Given the description of an element on the screen output the (x, y) to click on. 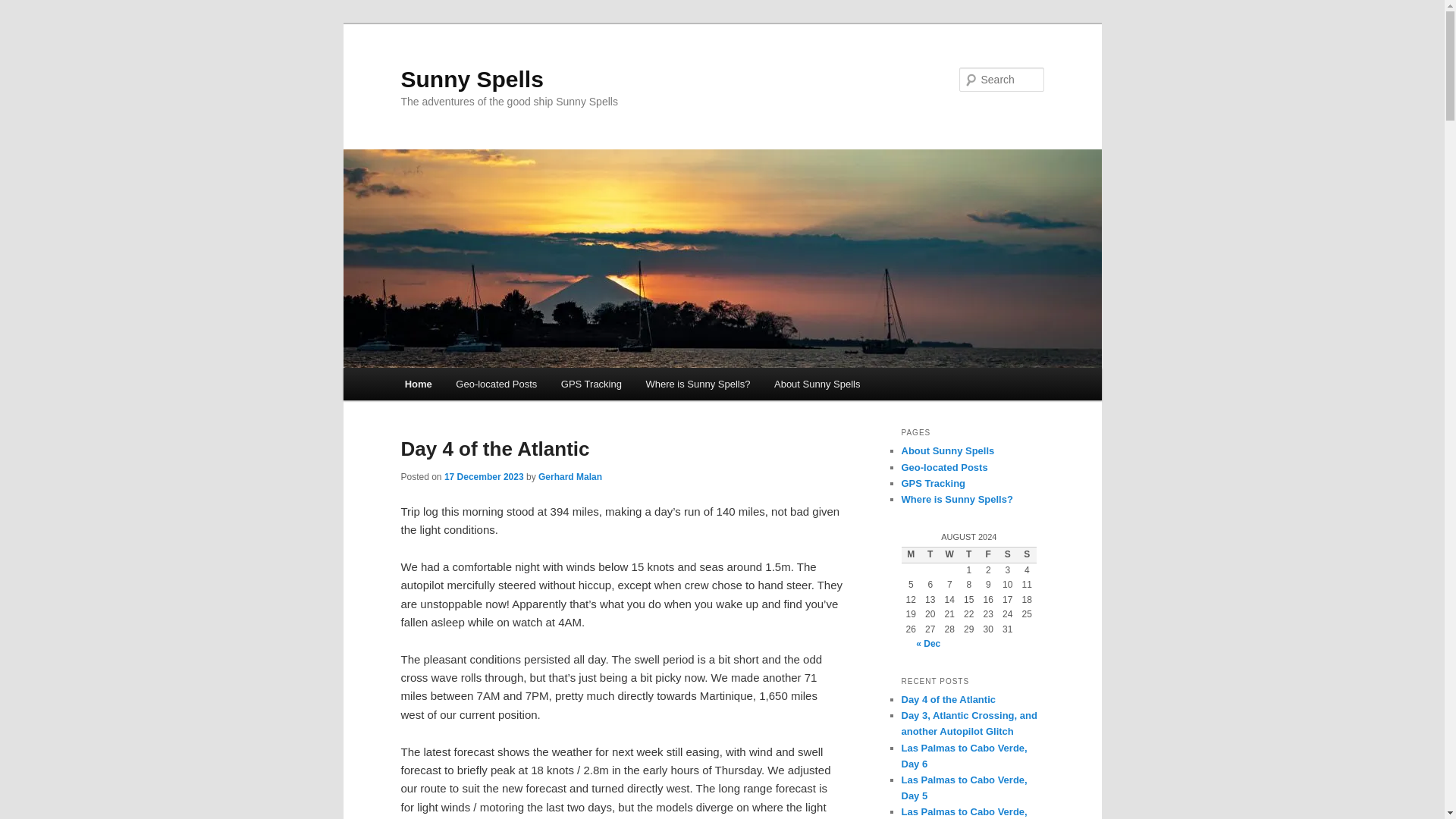
Home (418, 383)
Las Palmas to Cabo Verde, Day 6 (963, 755)
About Sunny Spells (816, 383)
GPS Tracking (590, 383)
9:28 PM (484, 476)
View all posts by Gerhard Malan (570, 476)
Tuesday (930, 555)
Gerhard Malan (570, 476)
Thursday (968, 555)
About Sunny Spells (947, 450)
Day 4 of the Atlantic (494, 448)
Where is Sunny Spells? (956, 499)
Friday (987, 555)
Monday (910, 555)
